Given the description of an element on the screen output the (x, y) to click on. 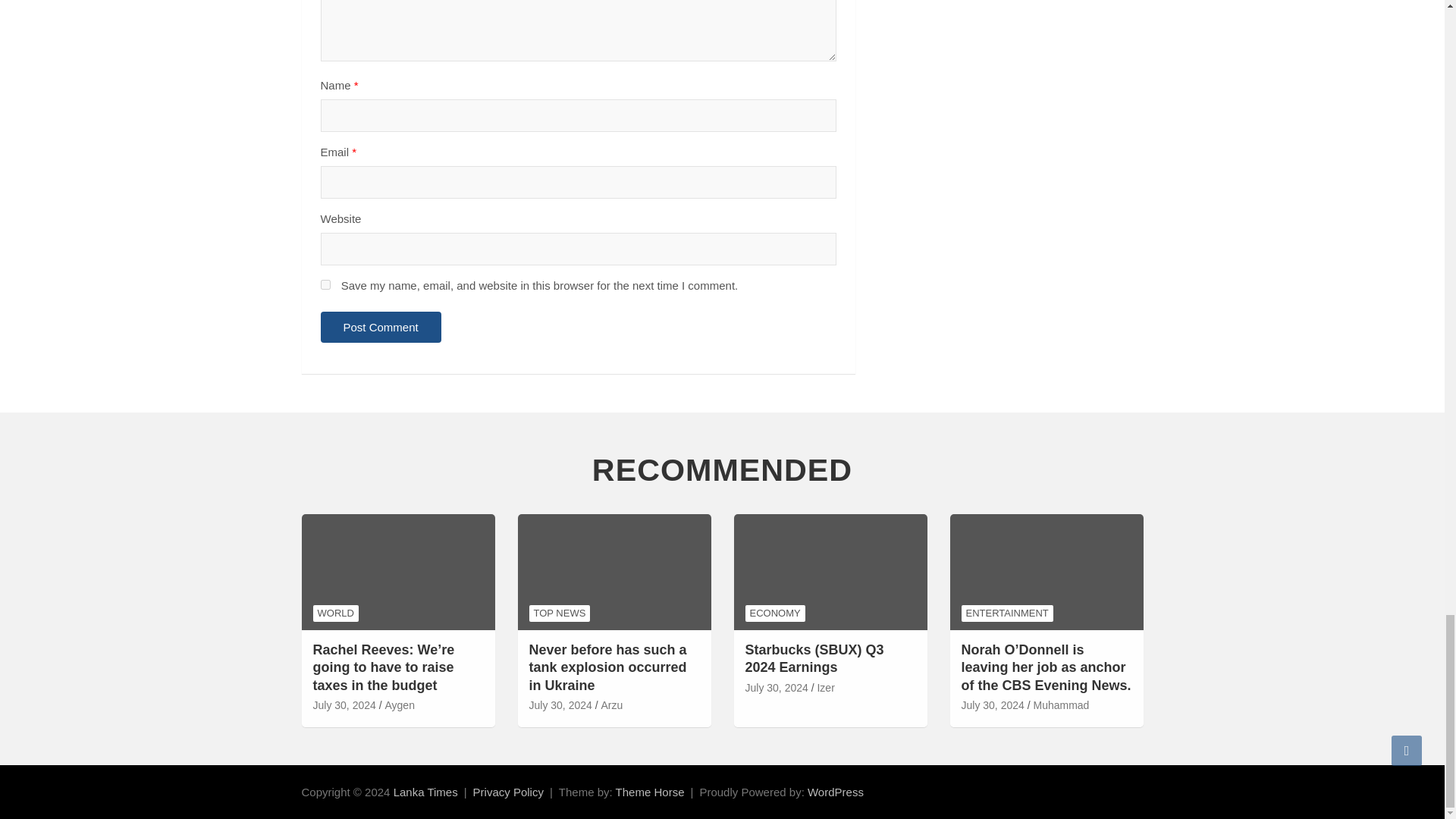
yes (325, 284)
Theme Horse (649, 791)
WordPress (835, 791)
July 30, 2024 (344, 705)
Post Comment (380, 327)
Lanka Times (425, 791)
WORLD (335, 613)
Never before has such a tank explosion occurred in Ukraine (560, 705)
Post Comment (380, 327)
